Given the description of an element on the screen output the (x, y) to click on. 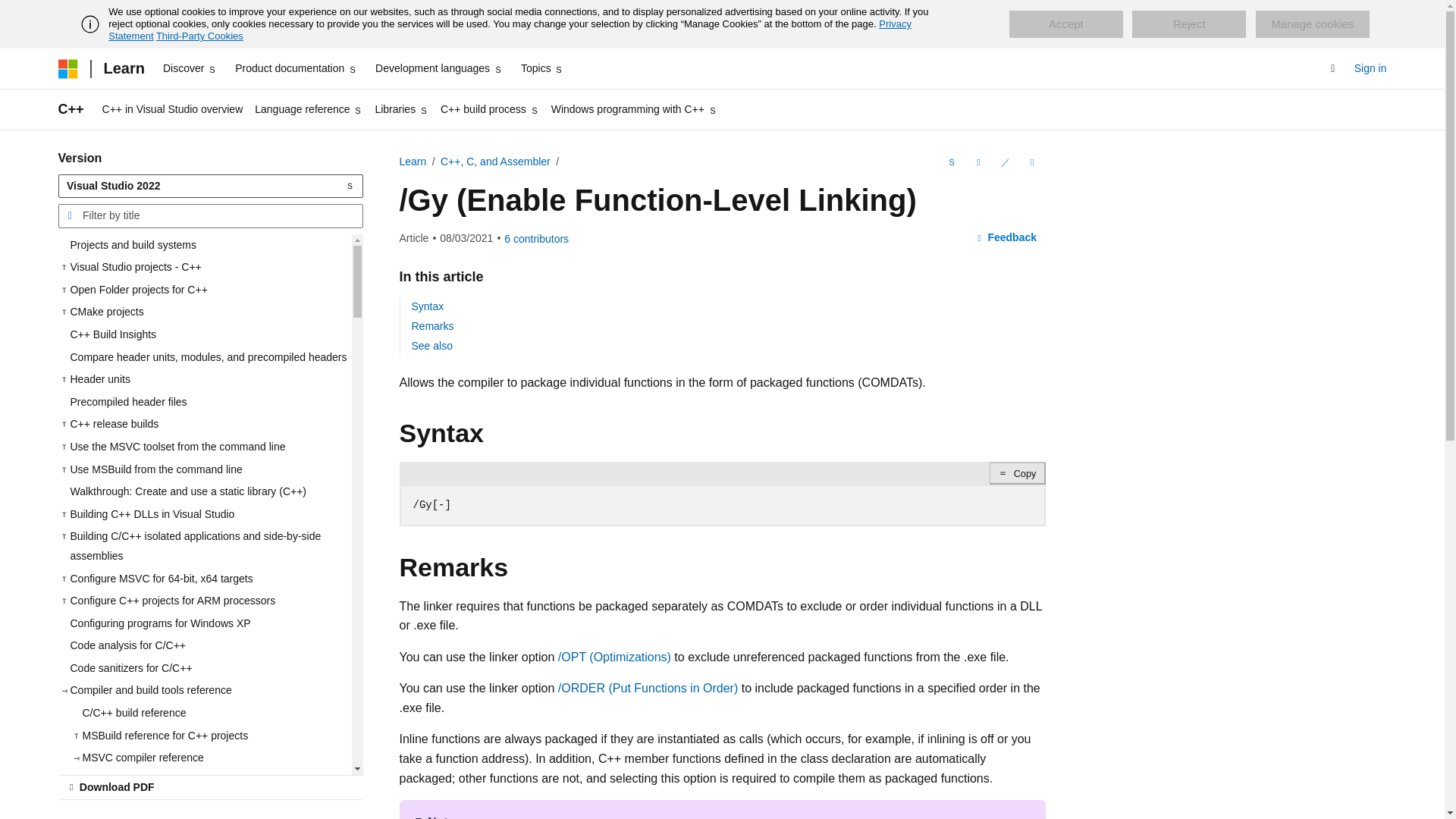
More actions (1031, 161)
Learn (123, 68)
Topics (542, 68)
Language (949, 161)
Privacy Statement (509, 29)
Libraries (400, 109)
Accept (1065, 23)
View all contributors (536, 238)
Discover (189, 68)
Manage cookies (1312, 23)
Language reference (308, 109)
Reject (1189, 23)
Sign in (1370, 68)
Product documentation (295, 68)
Third-Party Cookies (199, 35)
